Given the description of an element on the screen output the (x, y) to click on. 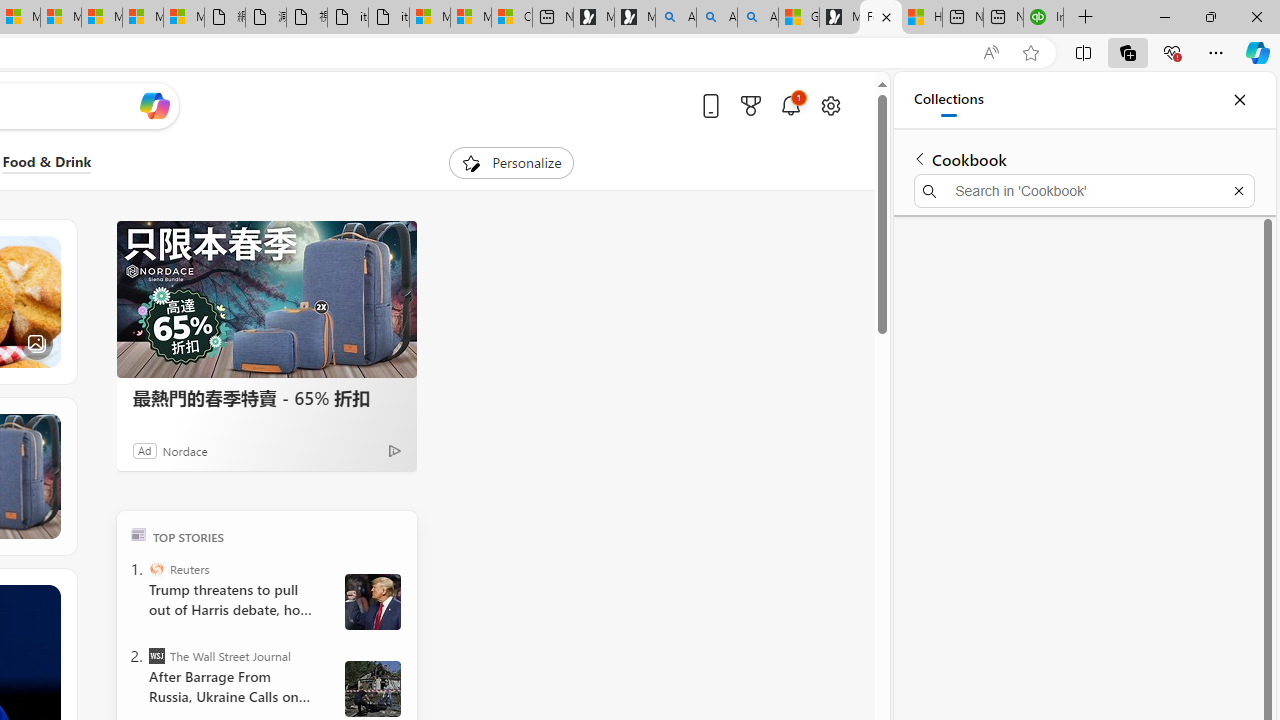
itconcepthk.com/projector_solutions.mp4 (388, 17)
The Wall Street Journal (156, 655)
